Given the description of an element on the screen output the (x, y) to click on. 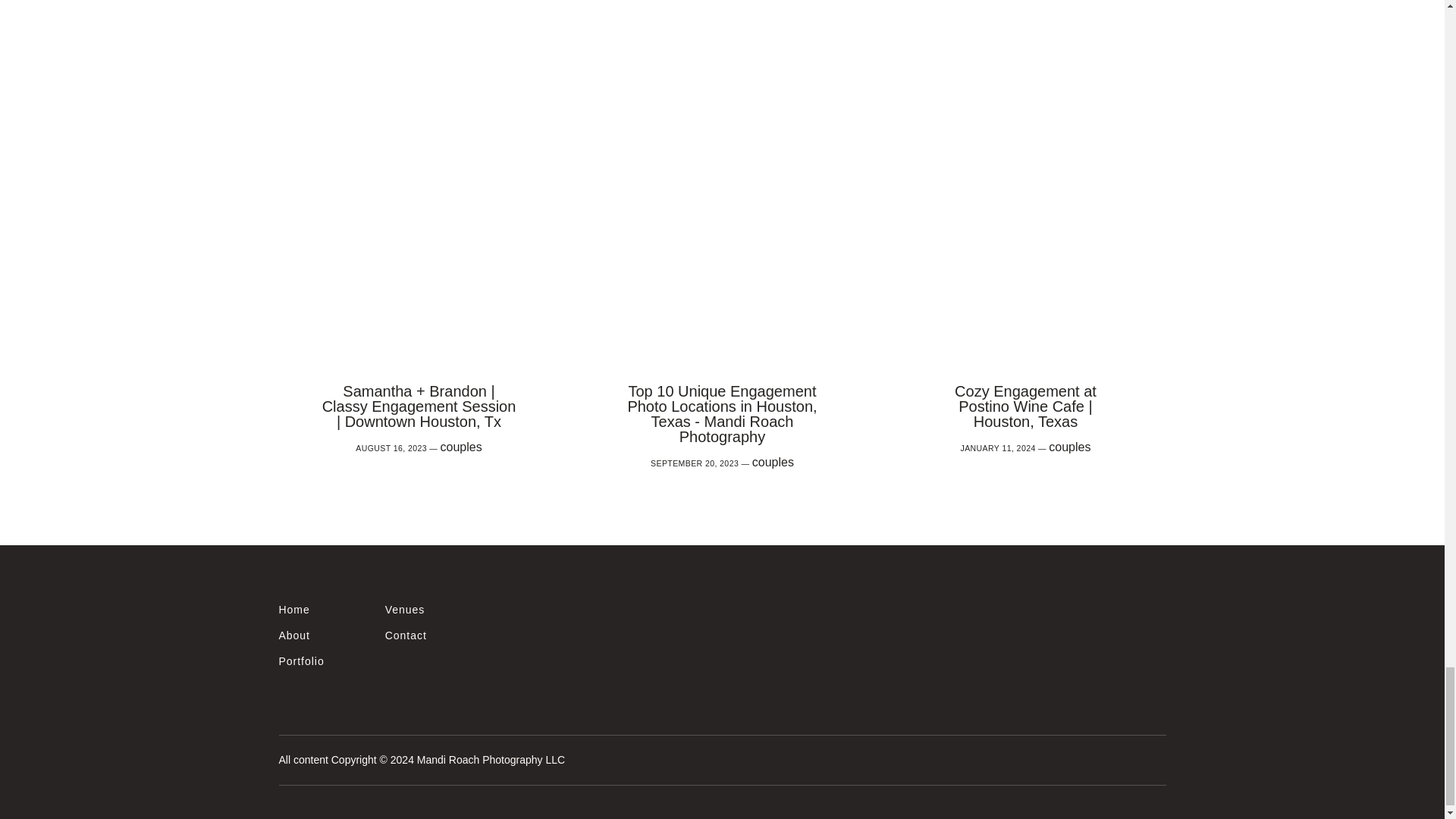
couples (1069, 446)
couples (461, 446)
couples (772, 461)
